Given the description of an element on the screen output the (x, y) to click on. 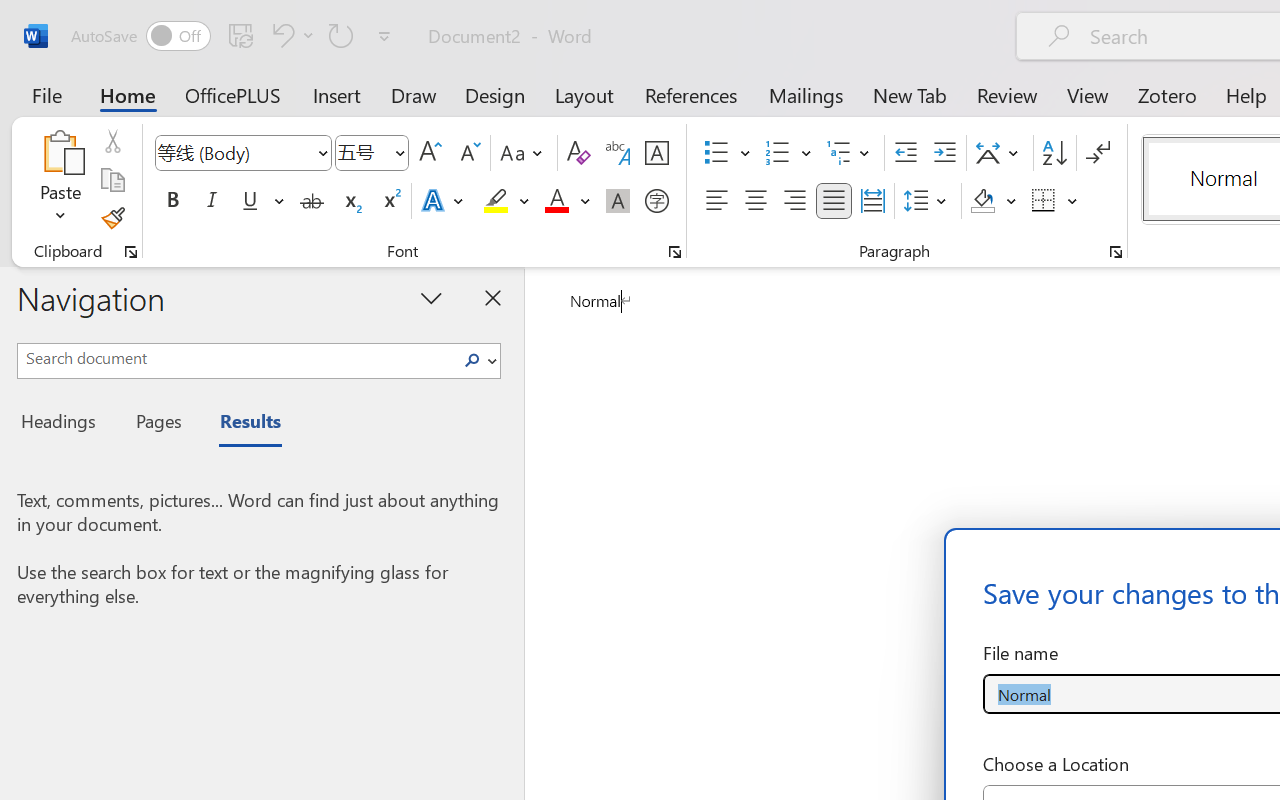
Subscript (350, 201)
Strikethrough (312, 201)
Italic (212, 201)
Cut (112, 141)
Bold (172, 201)
Shrink Font (468, 153)
Character Shading (618, 201)
Mailings (806, 94)
Insert (337, 94)
Format Painter (112, 218)
File Tab (46, 94)
Undo Apply Quick Style (290, 35)
Design (495, 94)
